Given the description of an element on the screen output the (x, y) to click on. 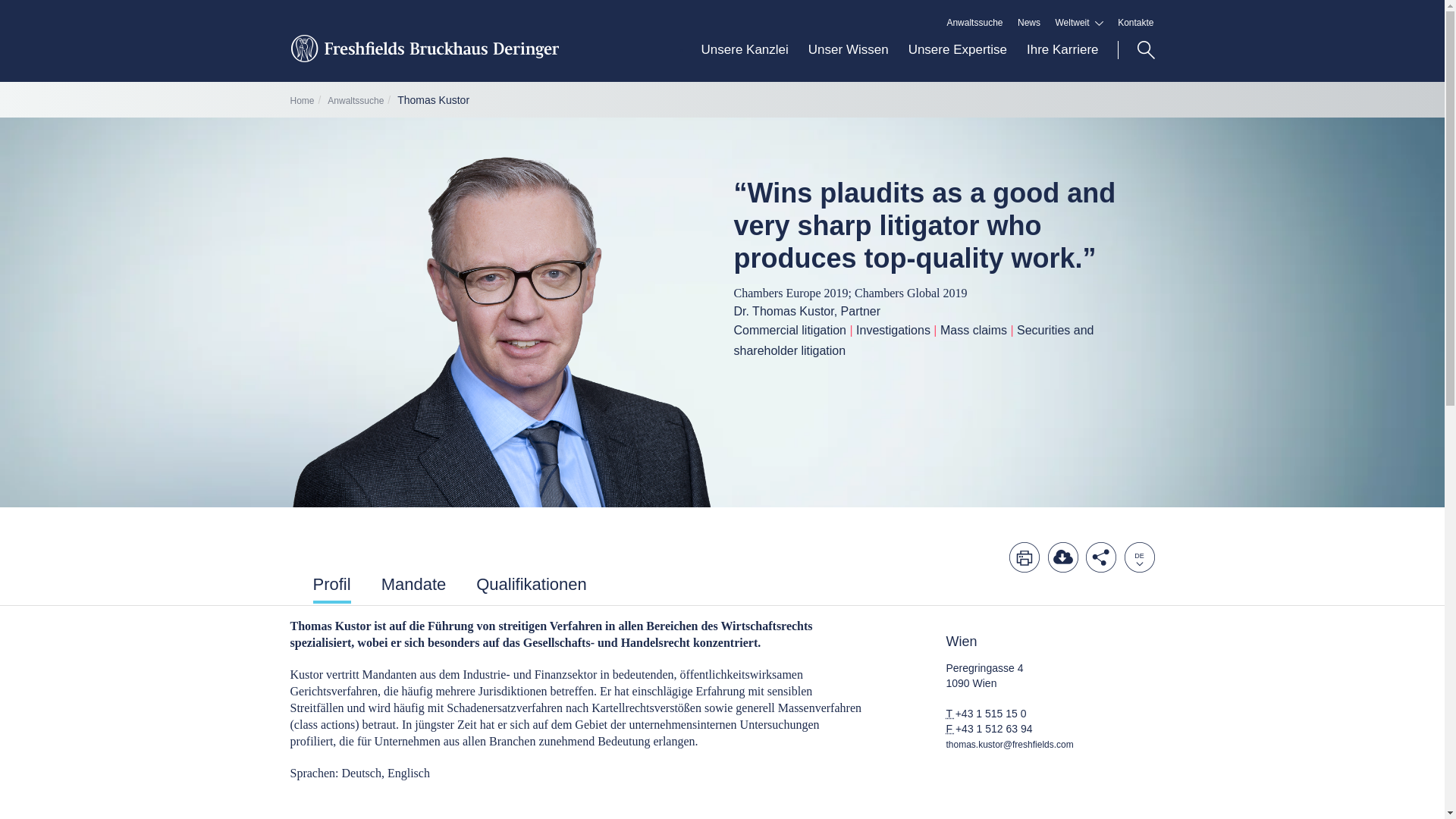
Unser Wissen (847, 61)
Kontakte (1135, 22)
Ihre Karriere (1056, 61)
Weltweit (1079, 22)
Suche (1136, 49)
Unsere Kanzlei (744, 61)
News (1029, 22)
Anwaltssuche (974, 22)
Unsere Expertise (957, 61)
Freshfields Bruckhaus Deringer (423, 56)
